Given the description of an element on the screen output the (x, y) to click on. 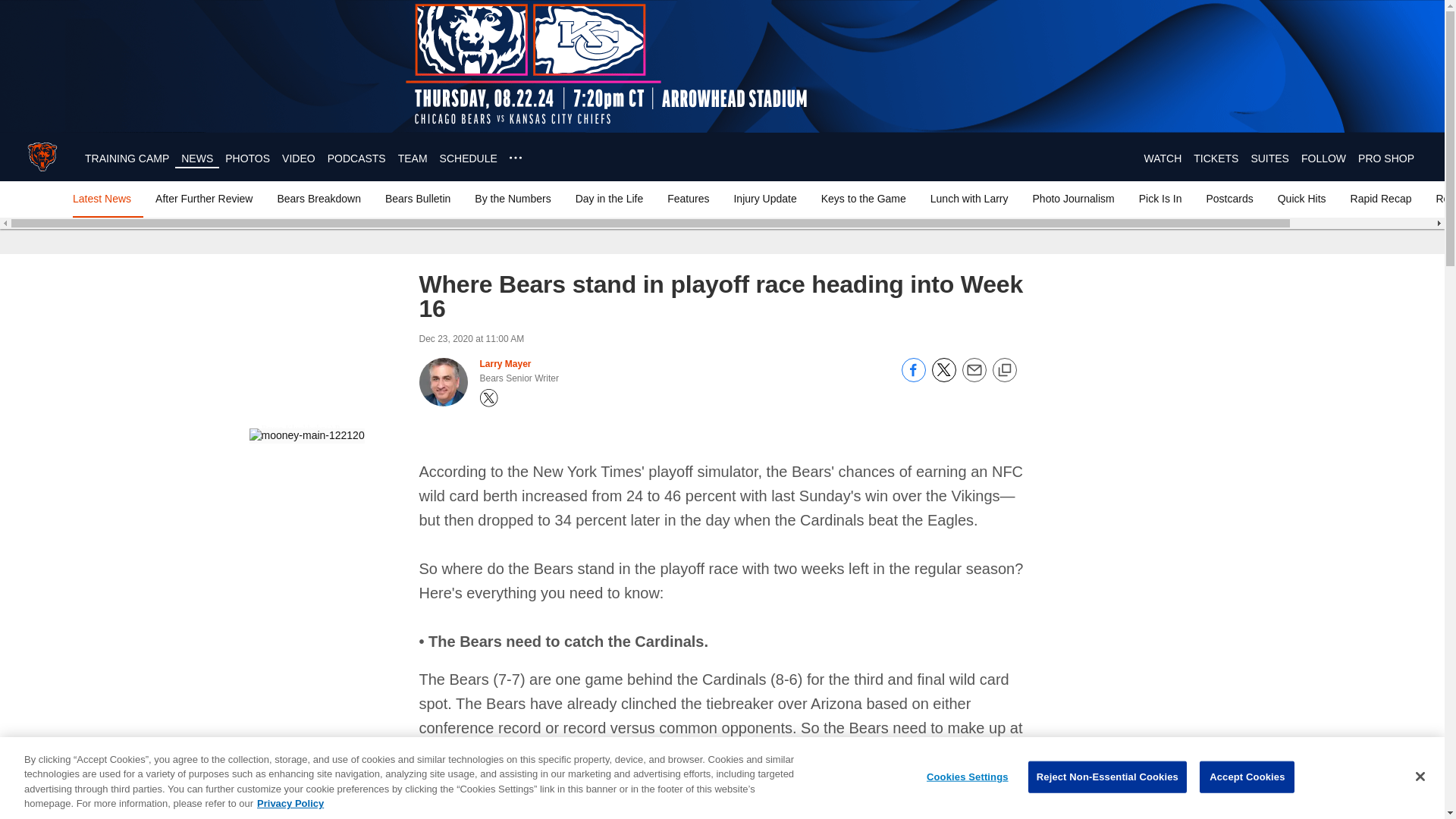
FOLLOW (1323, 158)
Rapid Recap (1380, 198)
SUITES (1269, 158)
After Further Review (204, 198)
Latest News (104, 198)
TRAINING CAMP (126, 158)
Quick Hits (1301, 198)
NEWS (196, 158)
By the Numbers (512, 198)
SUITES (1269, 158)
